Given the description of an element on the screen output the (x, y) to click on. 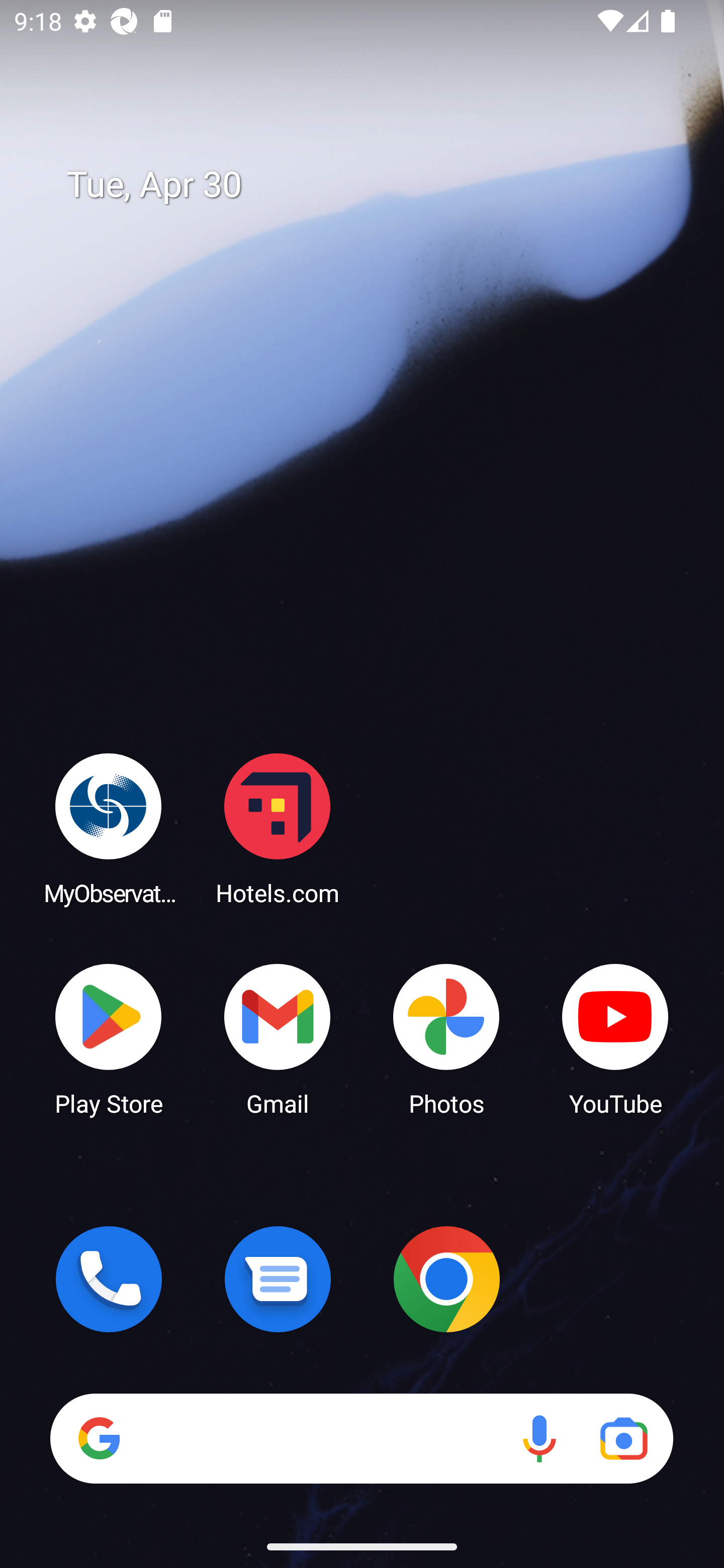
Tue, Apr 30 (375, 184)
MyObservatory (108, 828)
Hotels.com (277, 828)
Play Store (108, 1038)
Gmail (277, 1038)
Photos (445, 1038)
YouTube (615, 1038)
Phone (108, 1279)
Messages (277, 1279)
Chrome (446, 1279)
Voice search (539, 1438)
Google Lens (623, 1438)
